Given the description of an element on the screen output the (x, y) to click on. 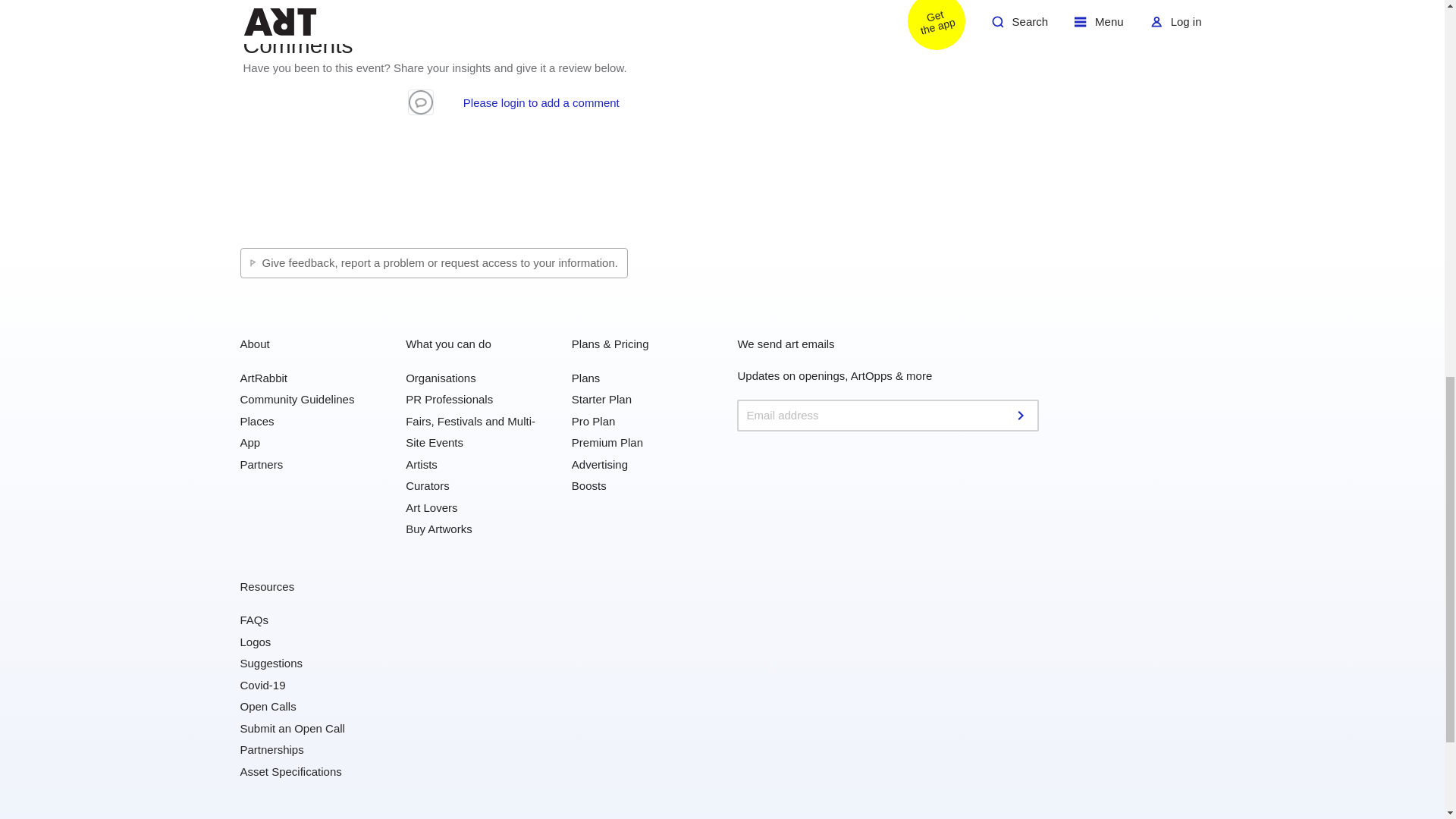
submit (1021, 415)
